Given the description of an element on the screen output the (x, y) to click on. 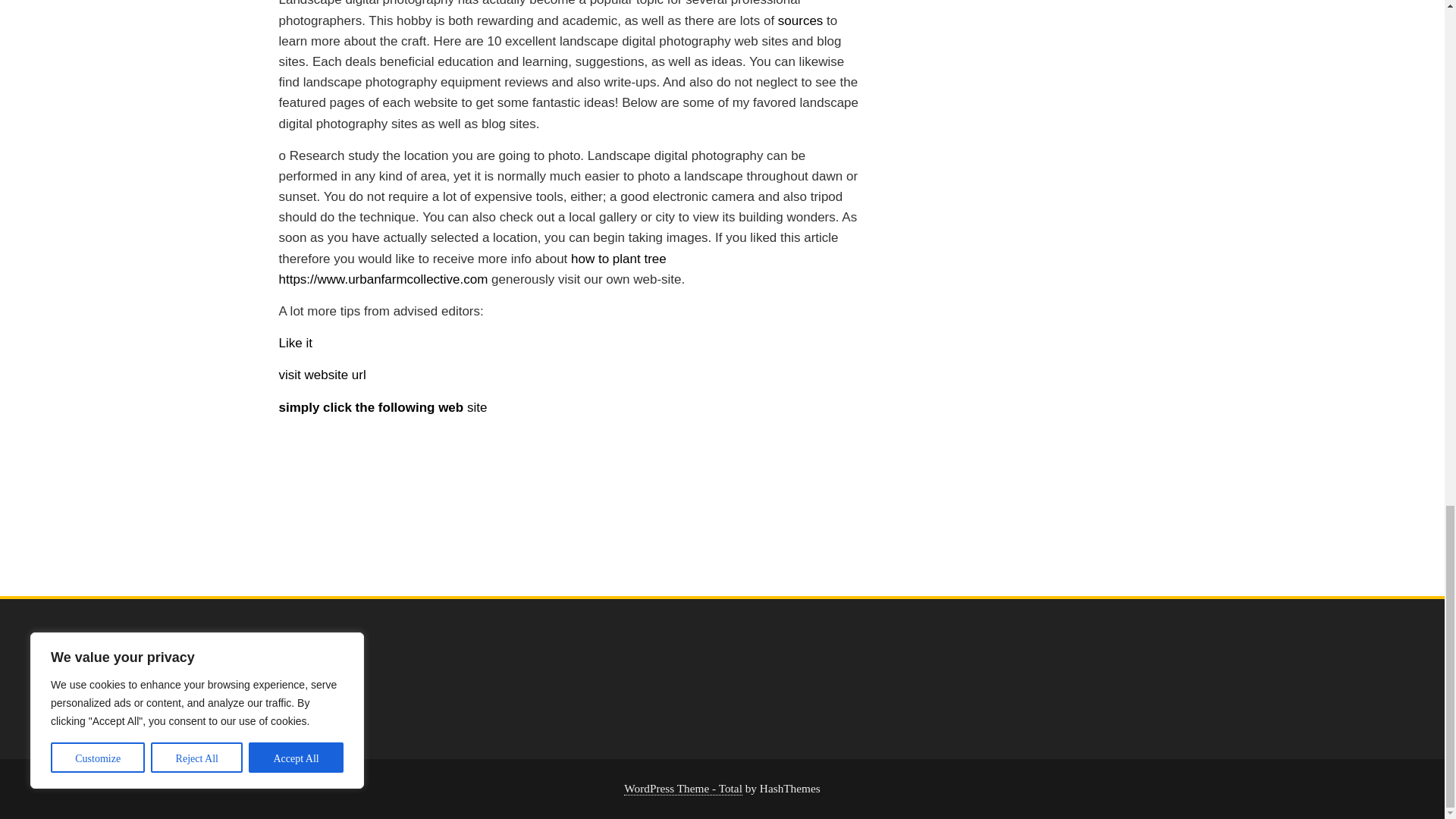
simply click the following web site (383, 407)
sources (800, 20)
visit website url (322, 374)
Like it (296, 342)
